Given the description of an element on the screen output the (x, y) to click on. 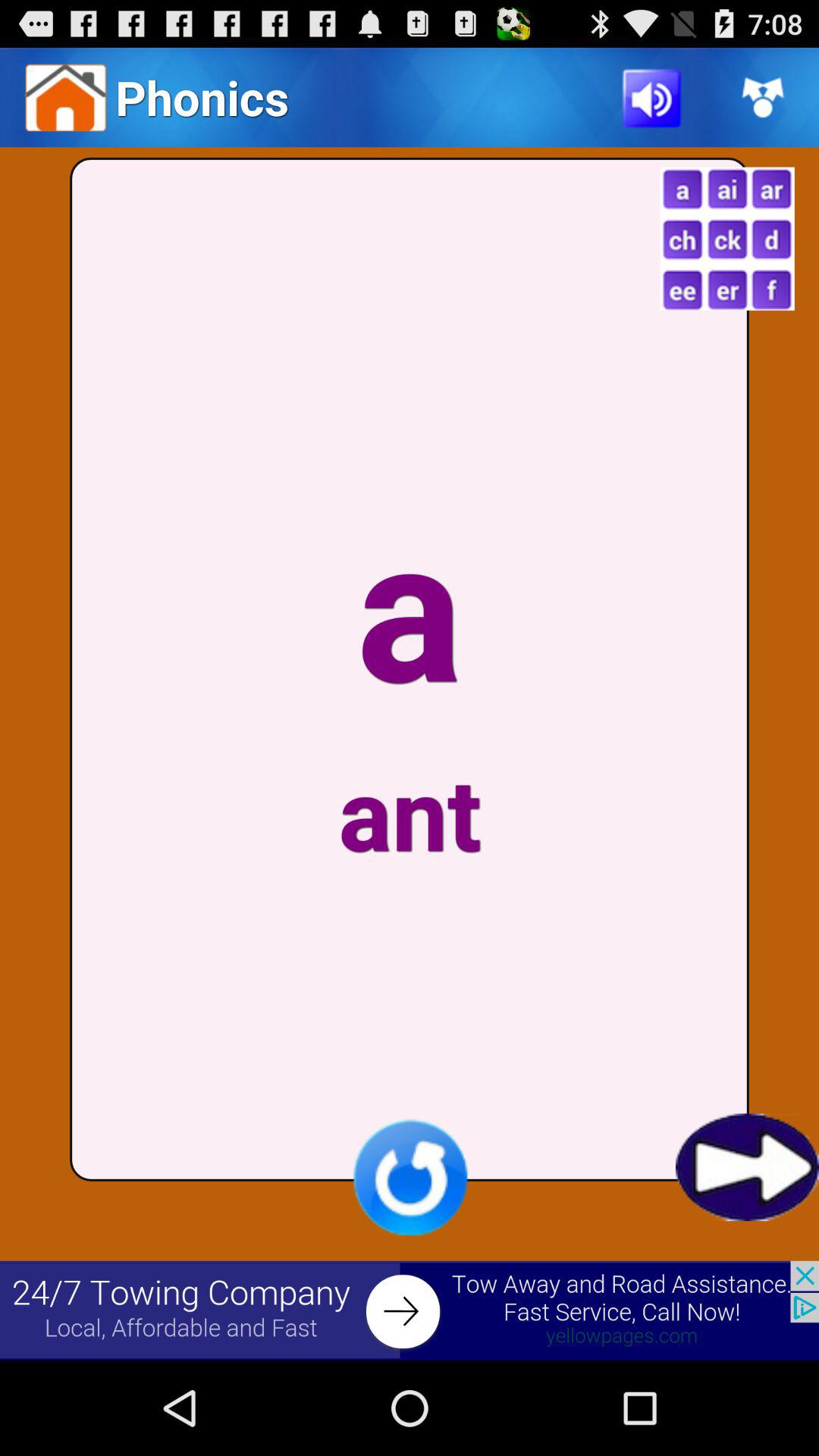
next letter (747, 1167)
